Given the description of an element on the screen output the (x, y) to click on. 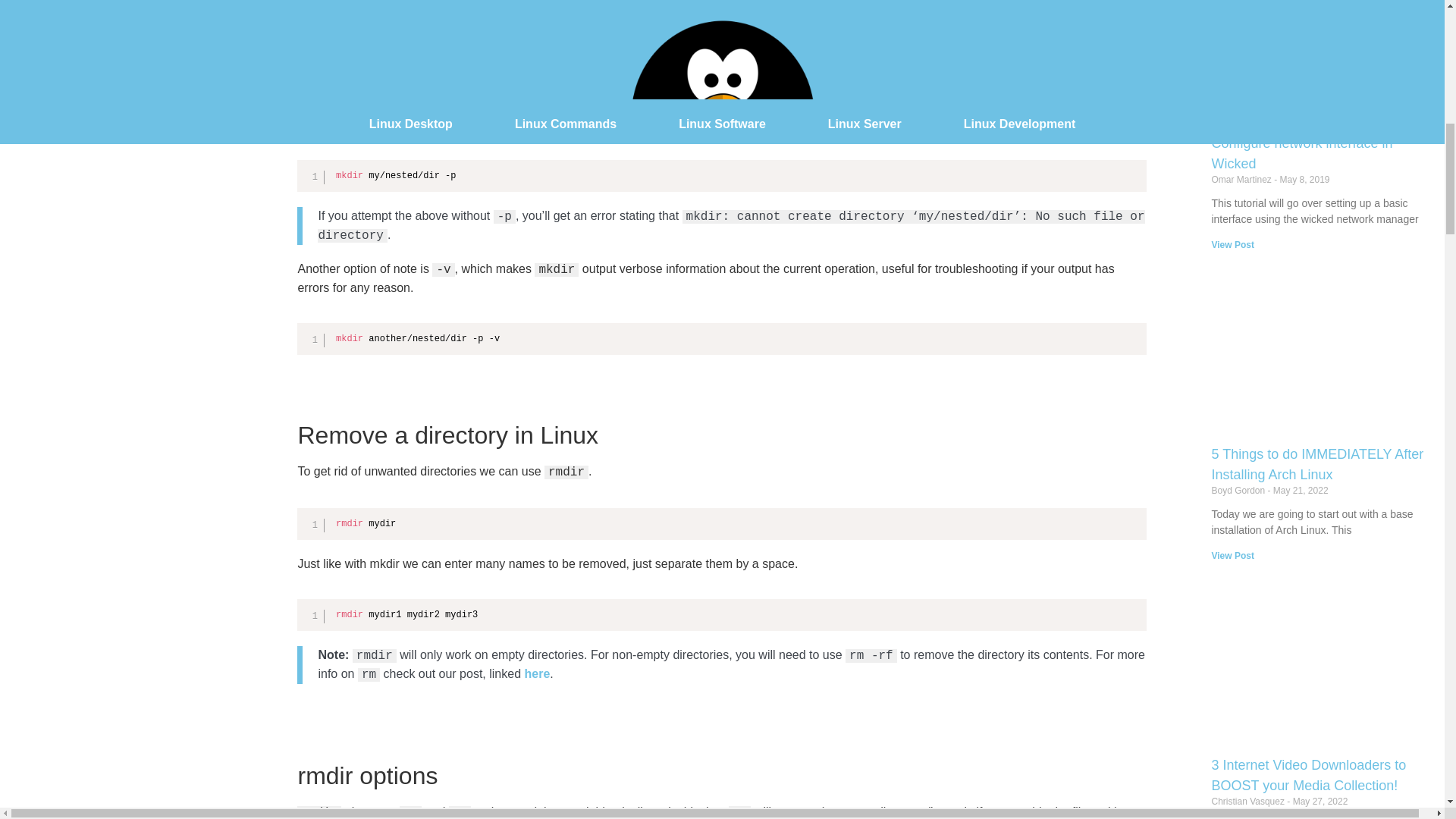
Using wildcards with rmdir (119, 126)
Conclusion (74, 118)
Create a directory in Linux (118, 203)
rmdir options (81, 136)
Remove a directory in Linux (123, 167)
mkdir options (82, 185)
here (537, 744)
